Given the description of an element on the screen output the (x, y) to click on. 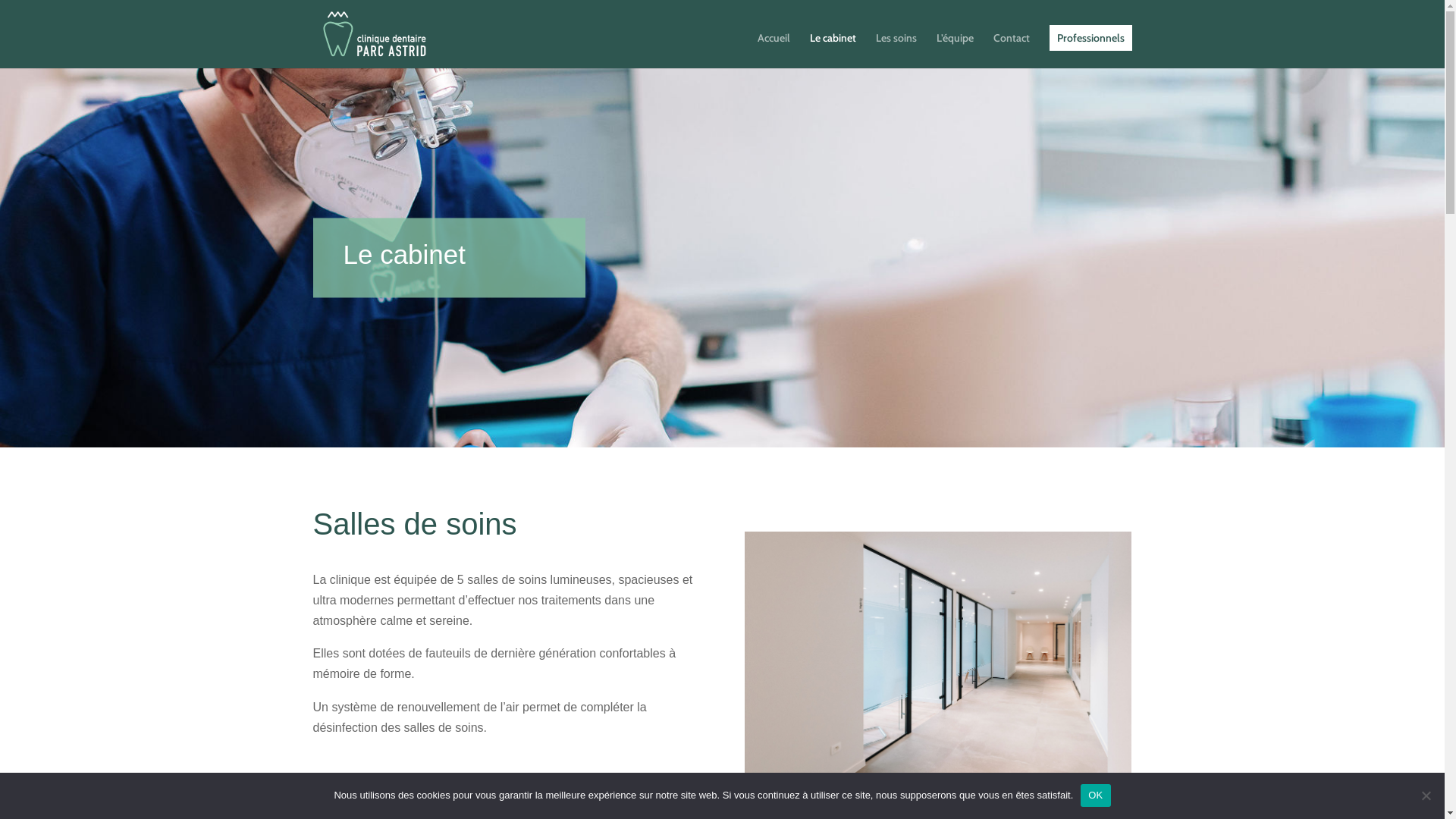
1 Element type: text (931, 778)
Les soins Element type: text (895, 50)
Professionnels Element type: text (1090, 37)
OK Element type: text (1095, 795)
2 Element type: text (944, 778)
Accueil Element type: text (772, 50)
Contact Element type: text (1011, 50)
Le cabinet Element type: text (832, 50)
Non Element type: hover (1425, 795)
